Given the description of an element on the screen output the (x, y) to click on. 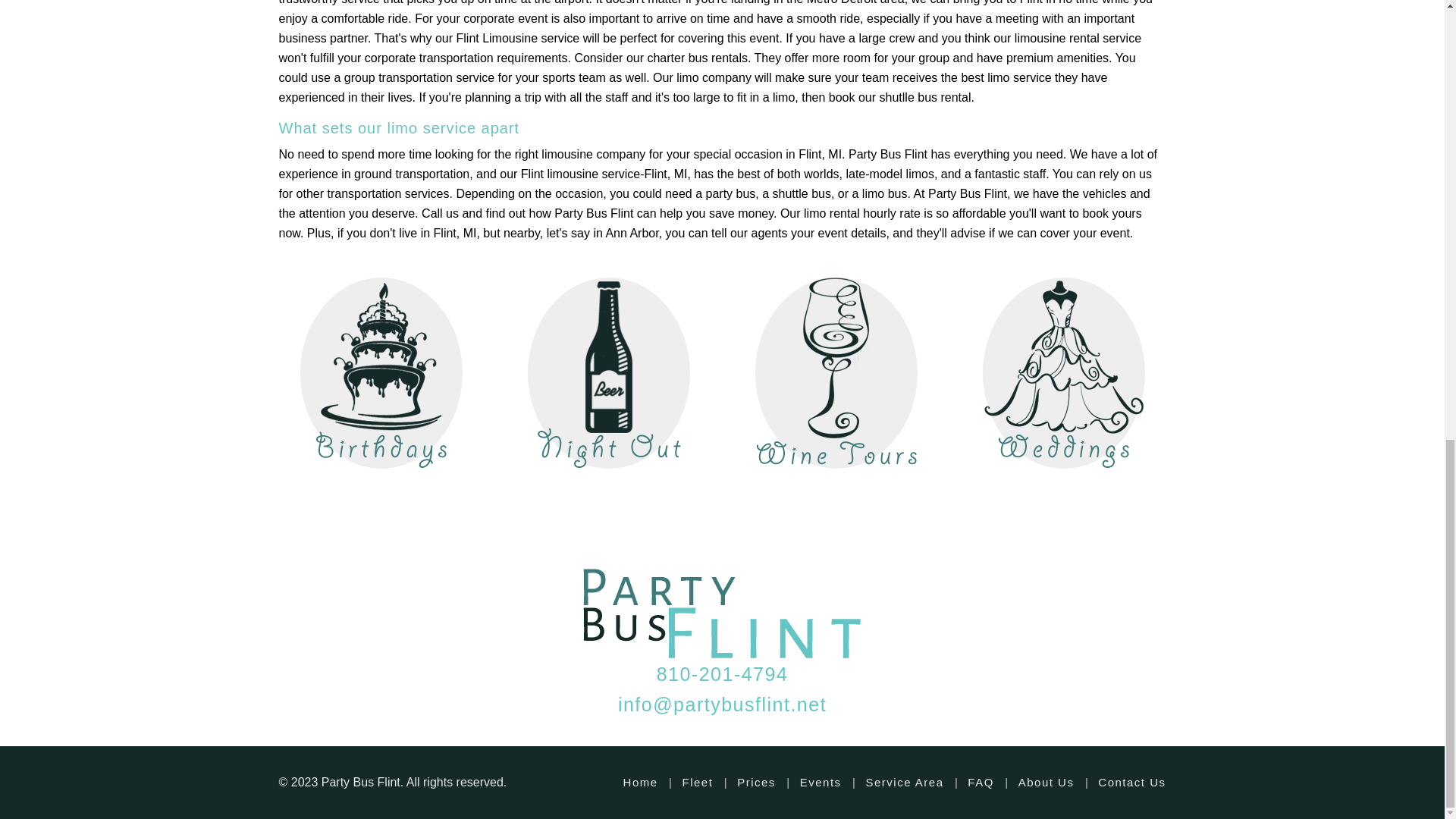
Prices (756, 781)
FAQ (981, 781)
Home (640, 781)
About Us (1045, 781)
Events (820, 781)
Contact Us (1131, 781)
Service Area (903, 781)
Fleet (697, 781)
